Given the description of an element on the screen output the (x, y) to click on. 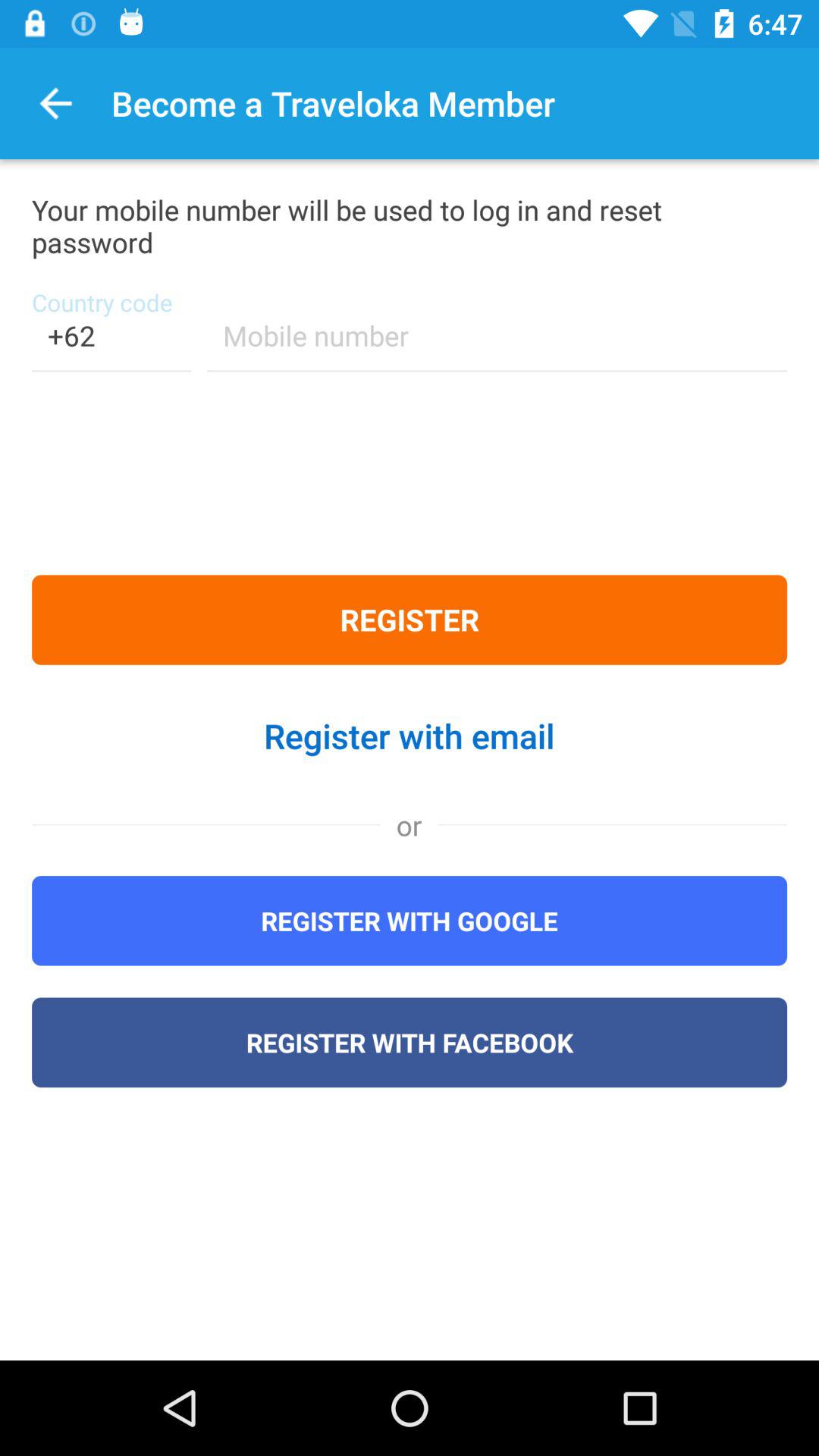
press the item next to +62 item (497, 345)
